Given the description of an element on the screen output the (x, y) to click on. 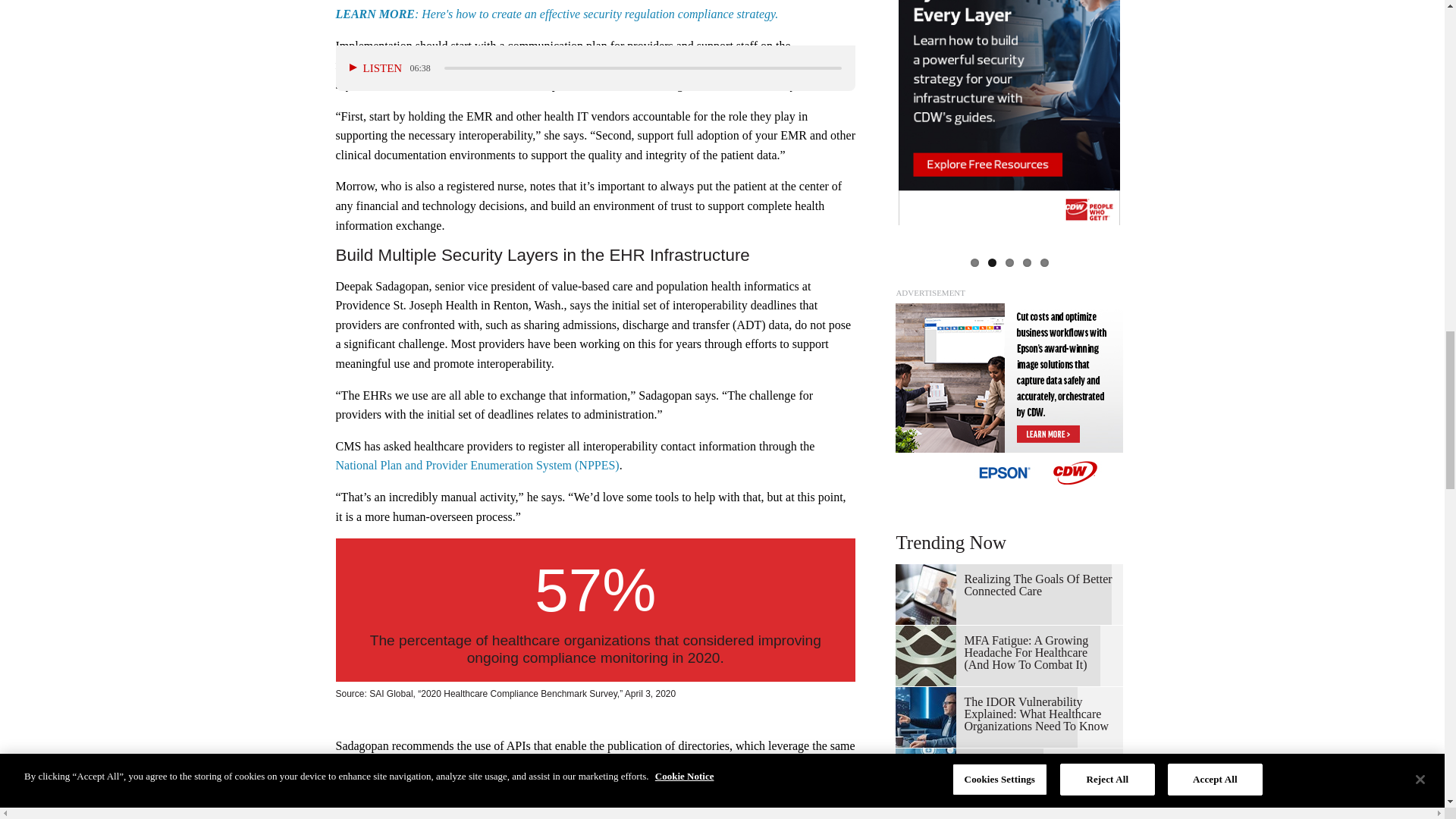
advertisement (1008, 398)
